Given the description of an element on the screen output the (x, y) to click on. 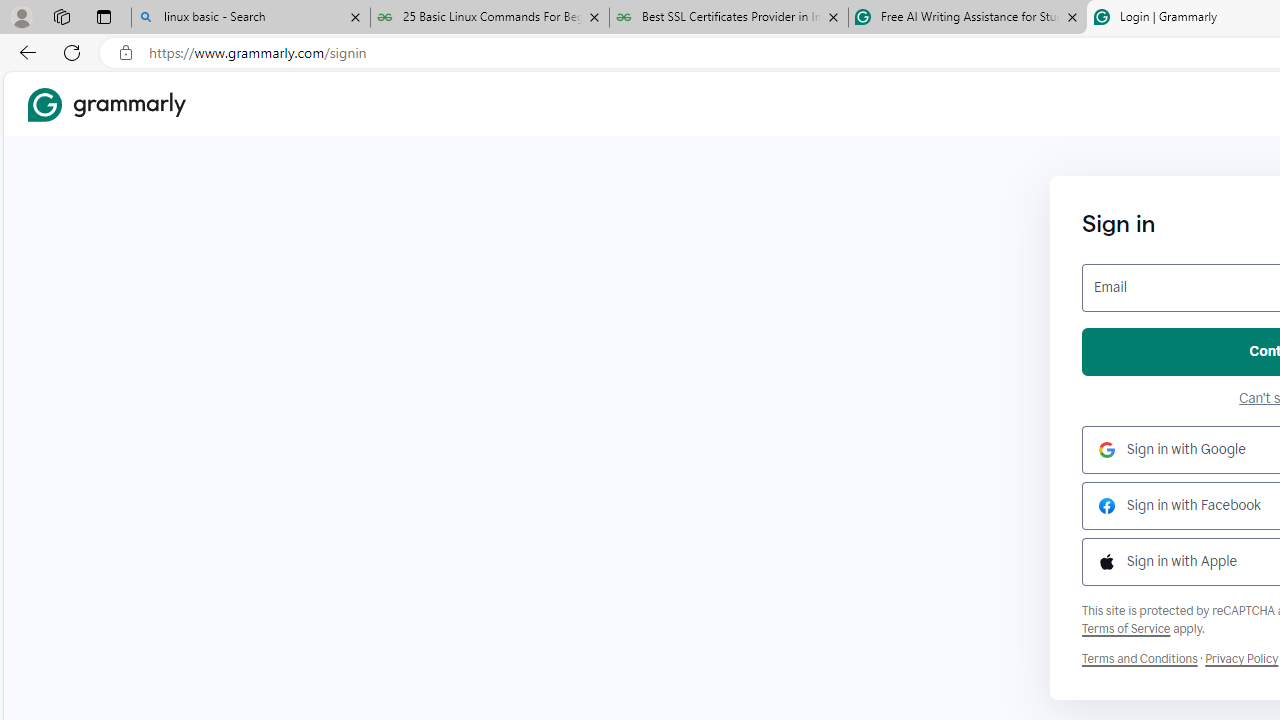
Grammarly Privacy Policy (1241, 659)
Grammarly Home (106, 104)
Grammarly Home (106, 103)
25 Basic Linux Commands For Beginners - GeeksforGeeks (490, 17)
Free AI Writing Assistance for Students | Grammarly (967, 17)
Best SSL Certificates Provider in India - GeeksforGeeks (729, 17)
Grammarly Terms and Conditions (1139, 659)
Google Terms of Service (1126, 628)
linux basic - Search (250, 17)
